Given the description of an element on the screen output the (x, y) to click on. 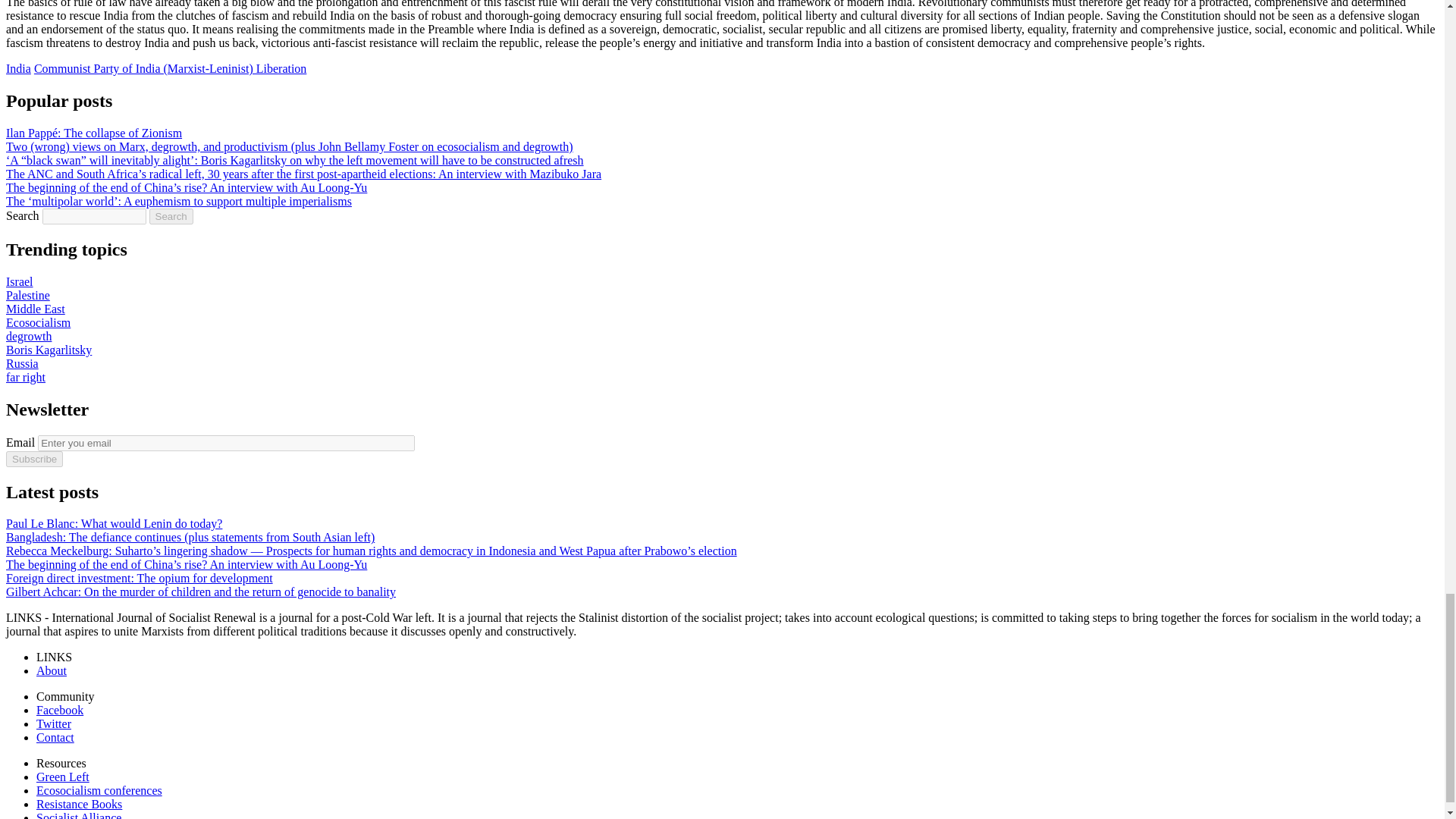
Paul Le Blanc: What would Lenin do today? (113, 522)
Ecosocialism (37, 322)
Boris Kagarlitsky (48, 349)
Middle East (35, 308)
Russia (22, 363)
Search (171, 216)
India (17, 68)
Subscribe (33, 458)
Enter the terms you wish to search for. (94, 216)
Subscribe (33, 458)
degrowth (27, 336)
Search (171, 216)
Israel (19, 281)
Foreign direct investment: The opium for development (139, 577)
Search (171, 216)
